Given the description of an element on the screen output the (x, y) to click on. 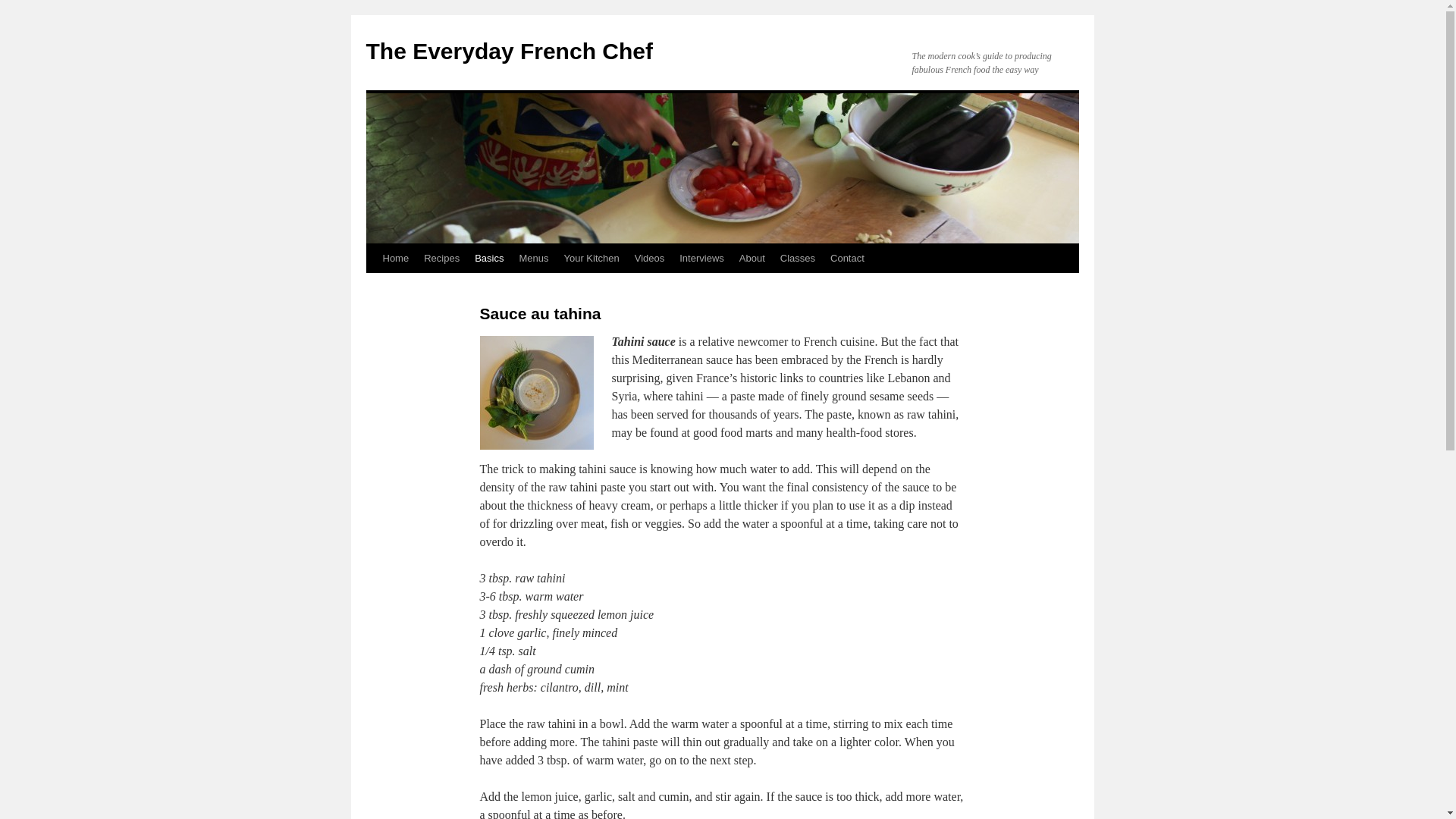
Home (395, 258)
Recipes (441, 258)
The Everyday French Chef (508, 50)
